Given the description of an element on the screen output the (x, y) to click on. 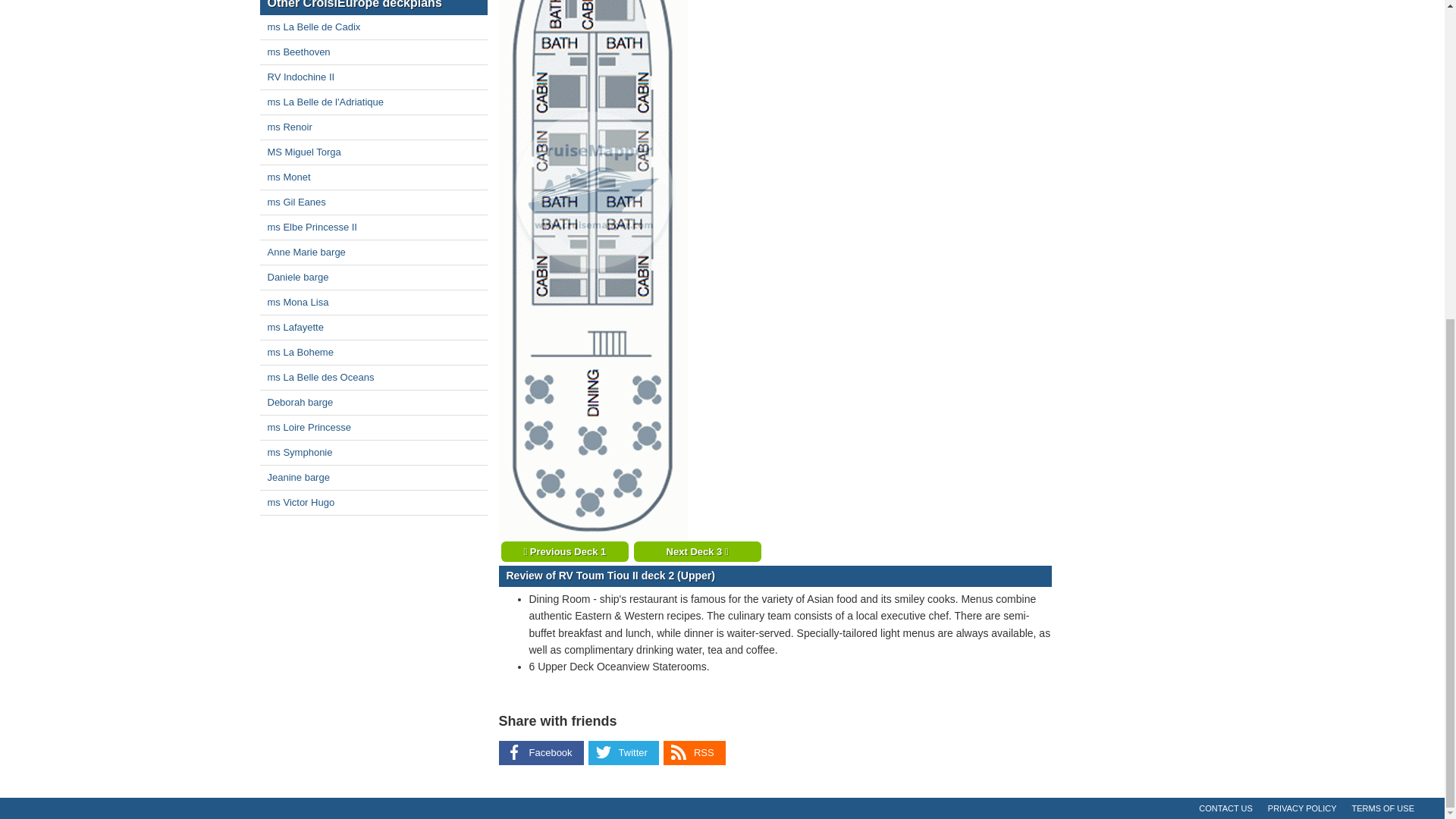
Daniele barge (372, 277)
Anne Marie barge (372, 252)
MS Miguel Torga (372, 152)
ms Renoir (372, 127)
ms La Belle de Cadix (372, 27)
ms Monet (372, 177)
ms La Belle de l'Adriatique (372, 102)
Twitter (623, 753)
ms Beethoven (372, 52)
Previous Deck 1 (564, 551)
Facebook (541, 753)
RSS (694, 753)
ms Elbe Princesse II (372, 227)
Next Deck 3 (697, 551)
RV Indochine II (372, 77)
